Given the description of an element on the screen output the (x, y) to click on. 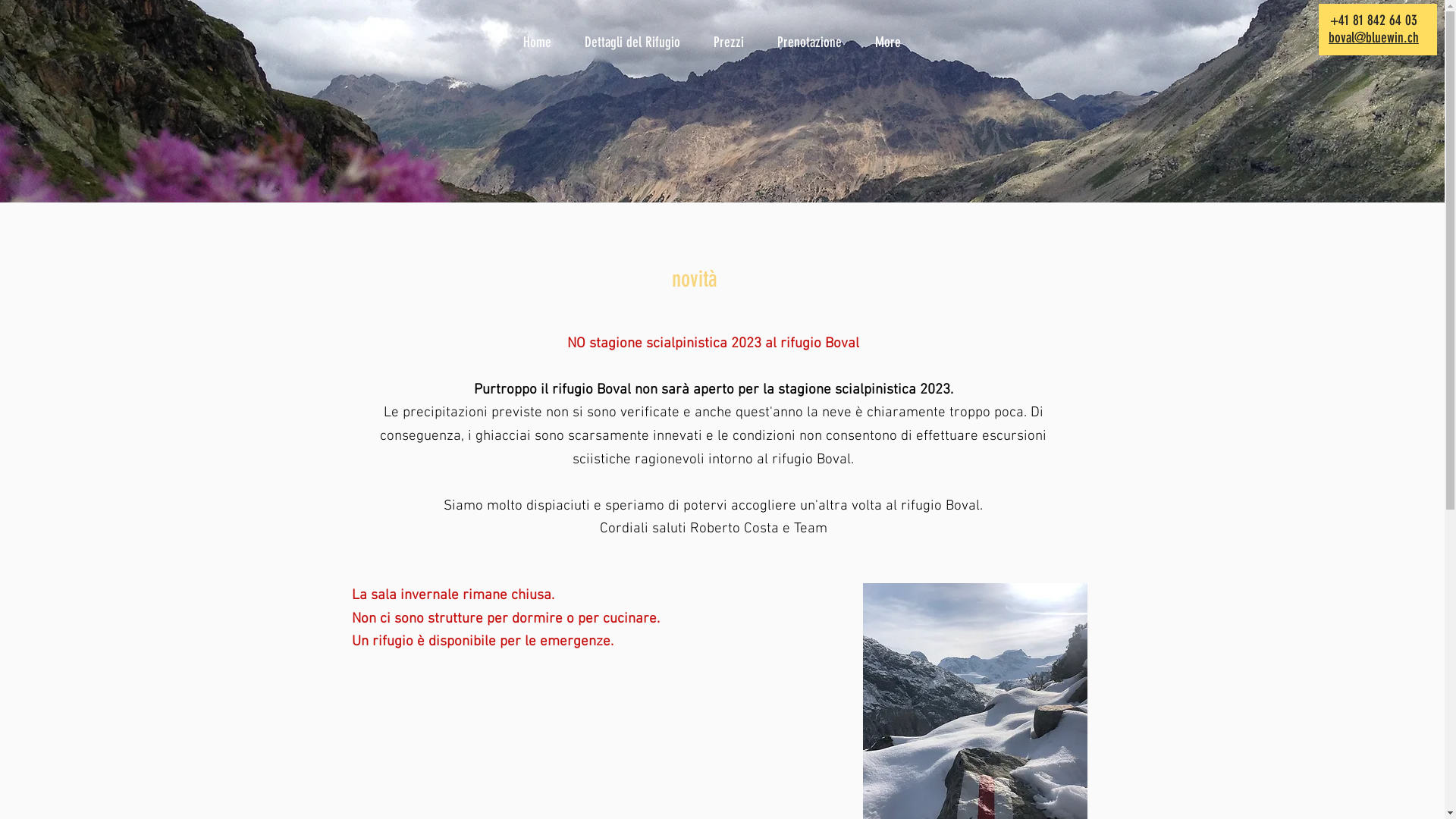
Prezzi Element type: text (733, 42)
Prenotazione Element type: text (814, 42)
boval@bluewin.ch Element type: text (1373, 37)
